Given the description of an element on the screen output the (x, y) to click on. 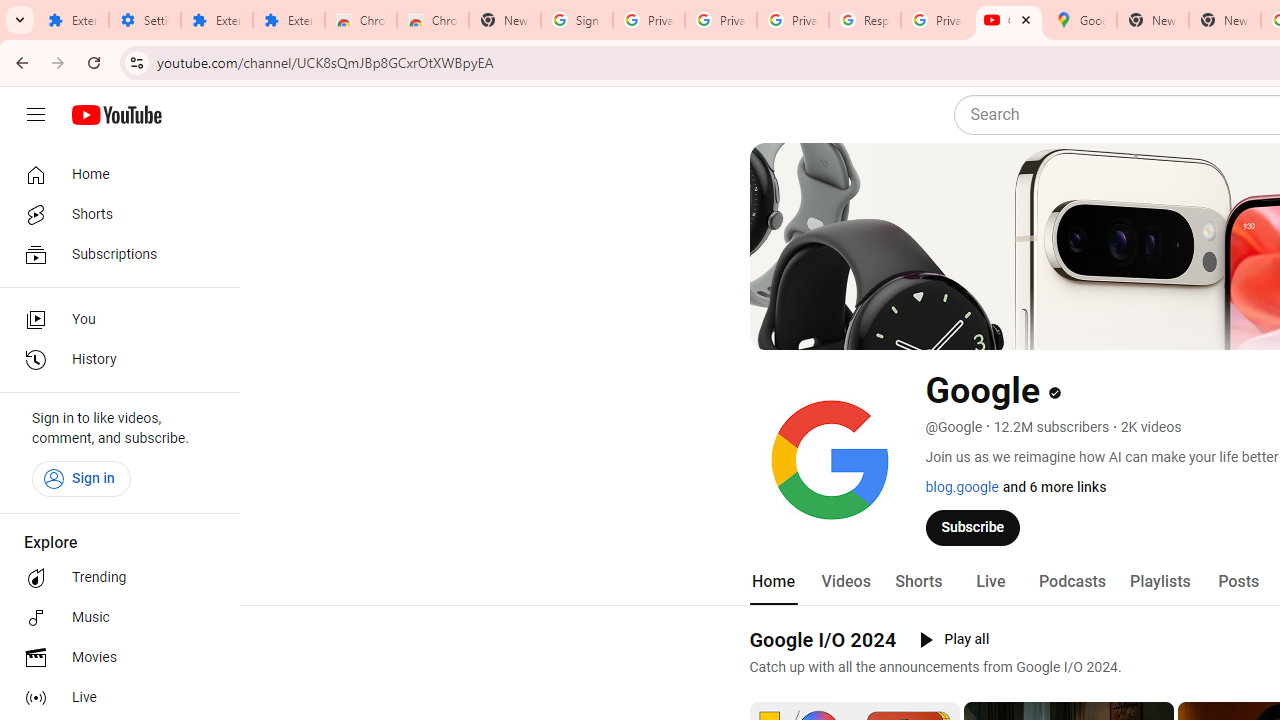
Extensions (289, 20)
You (113, 319)
Music (113, 617)
Play all (954, 640)
Subscribe (973, 527)
Shorts (918, 581)
Subscriptions (113, 254)
Google I/O 2024 (822, 639)
Chrome Web Store - Themes (432, 20)
blog.google (961, 487)
Home (113, 174)
Home (772, 581)
